Given the description of an element on the screen output the (x, y) to click on. 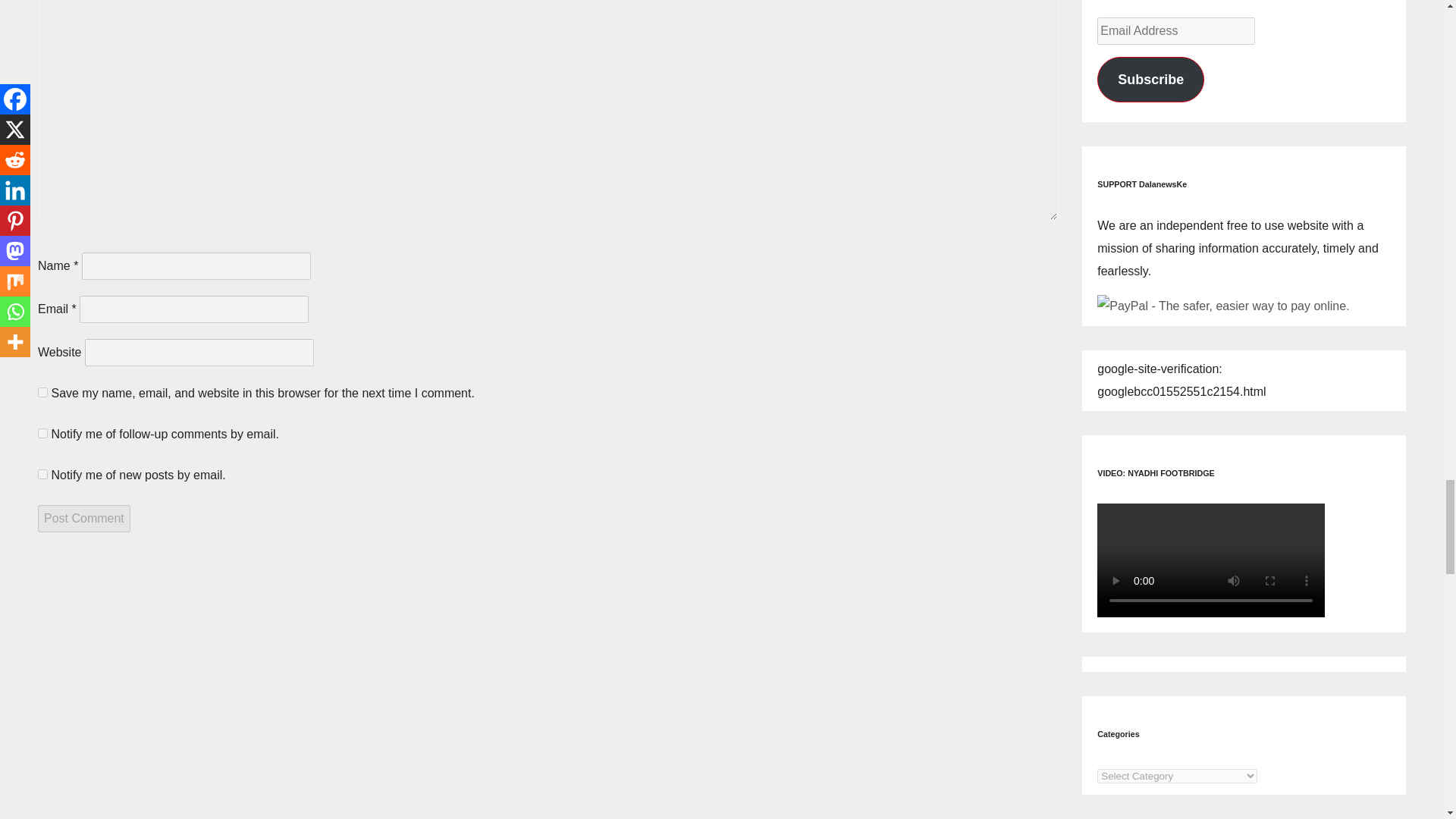
subscribe (42, 474)
subscribe (42, 433)
Post Comment (84, 518)
yes (42, 392)
